Given the description of an element on the screen output the (x, y) to click on. 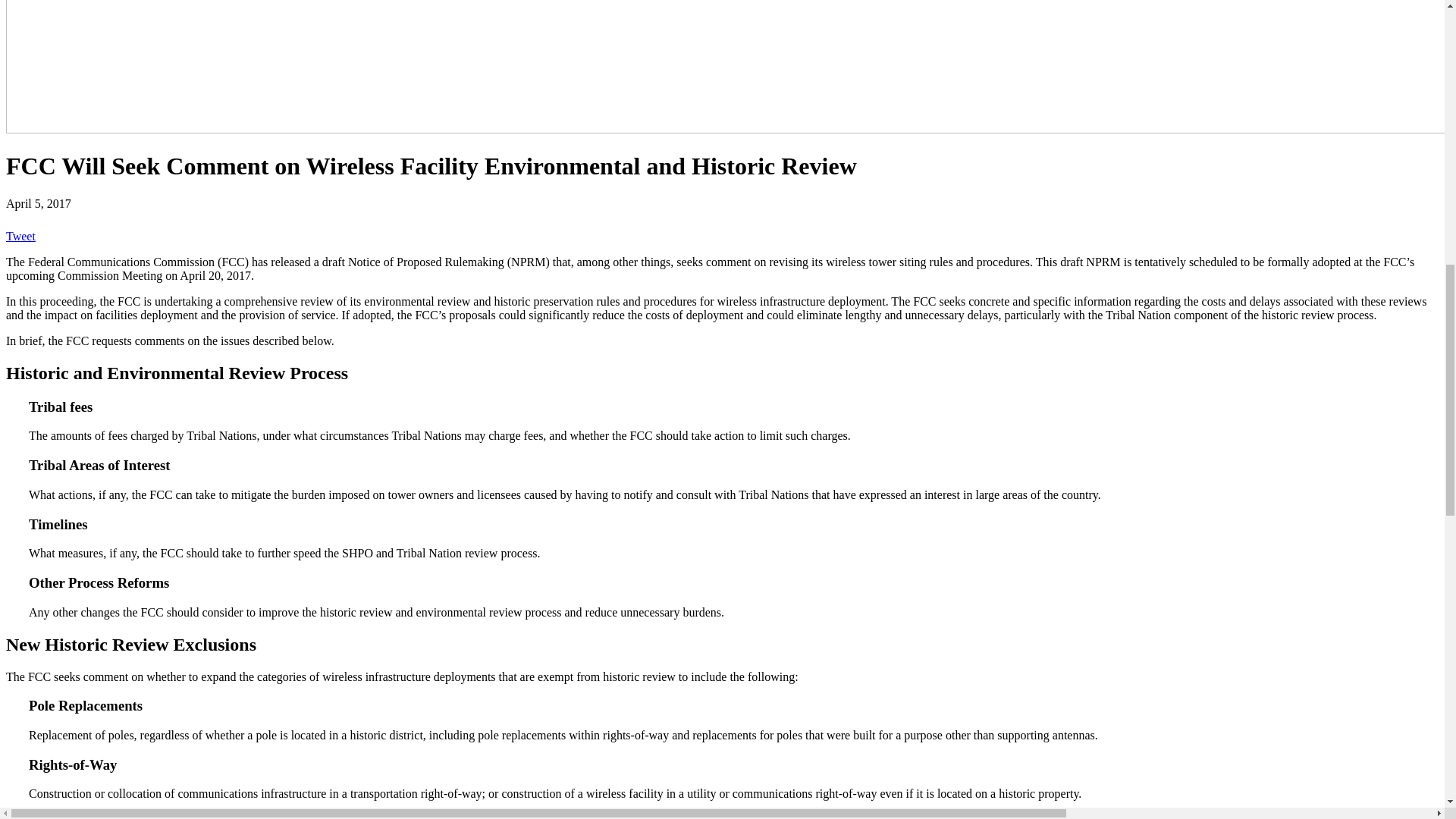
Tweet (19, 236)
